Given the description of an element on the screen output the (x, y) to click on. 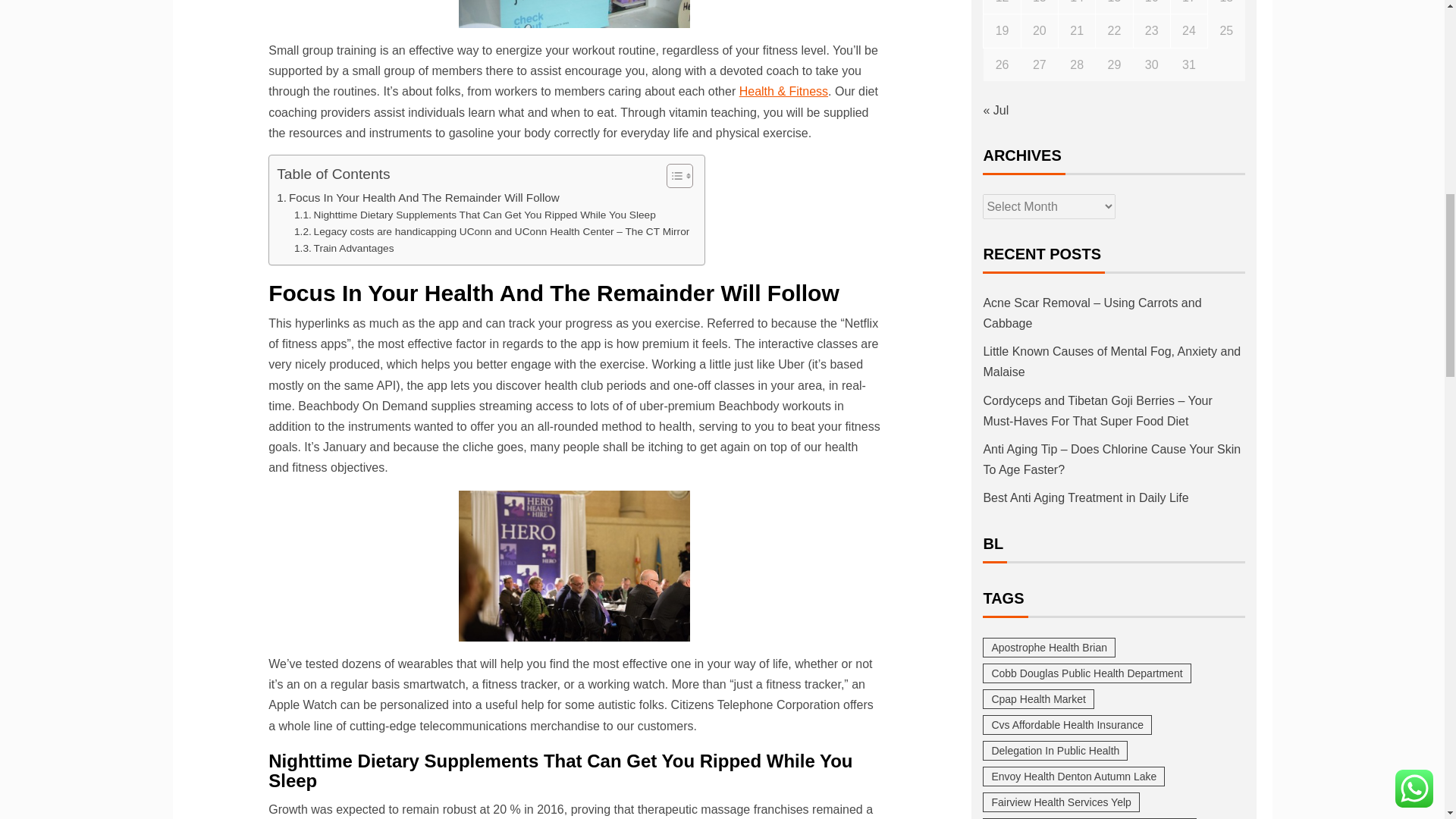
Train Advantages (343, 248)
Focus In Your Health And The Remainder Will Follow (417, 198)
Focus In Your Health And The Remainder Will Follow (417, 198)
